Given the description of an element on the screen output the (x, y) to click on. 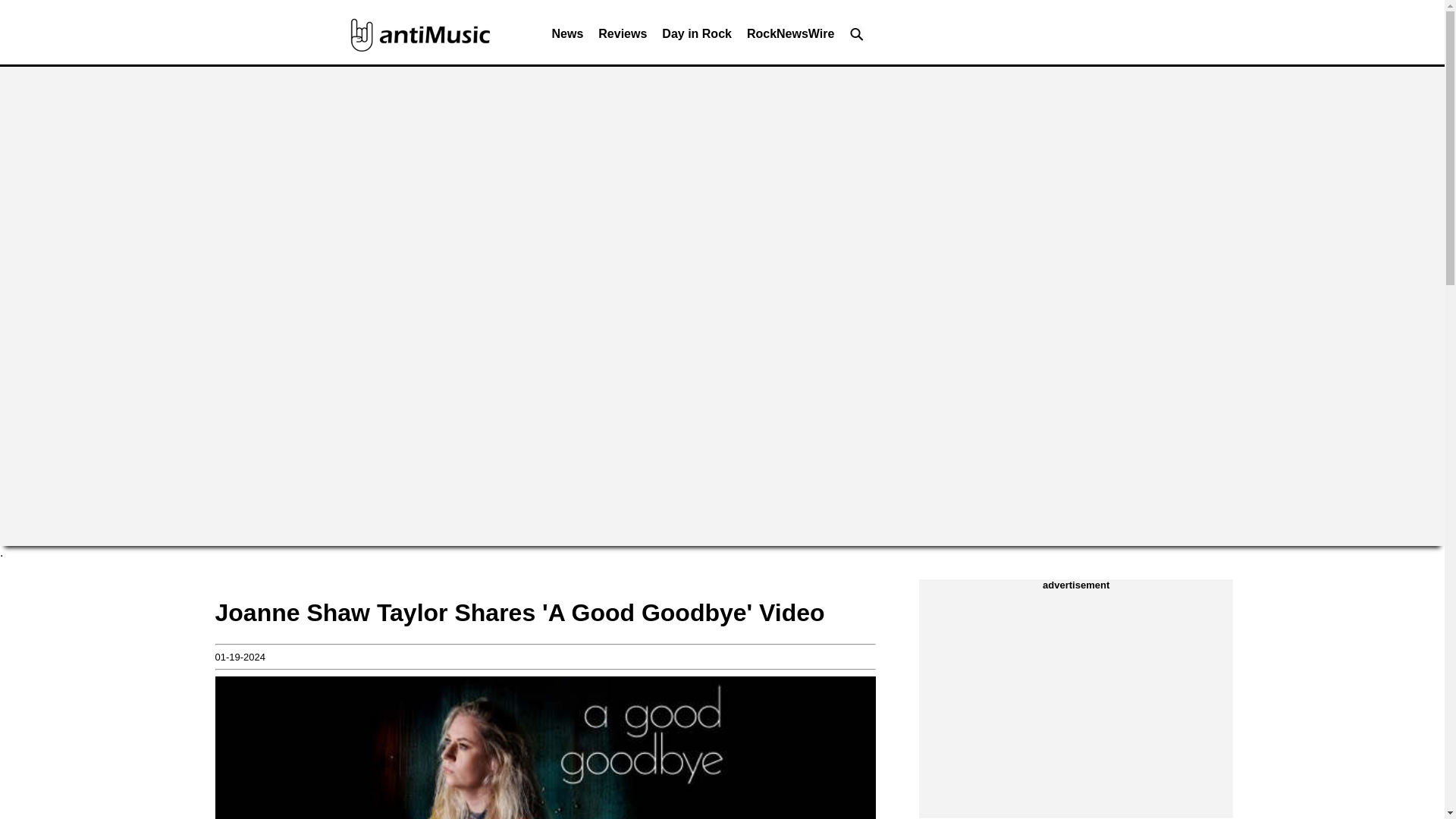
RockNewsWire (790, 38)
Day in Rock (696, 38)
Reviews (622, 38)
News (567, 38)
